Given the description of an element on the screen output the (x, y) to click on. 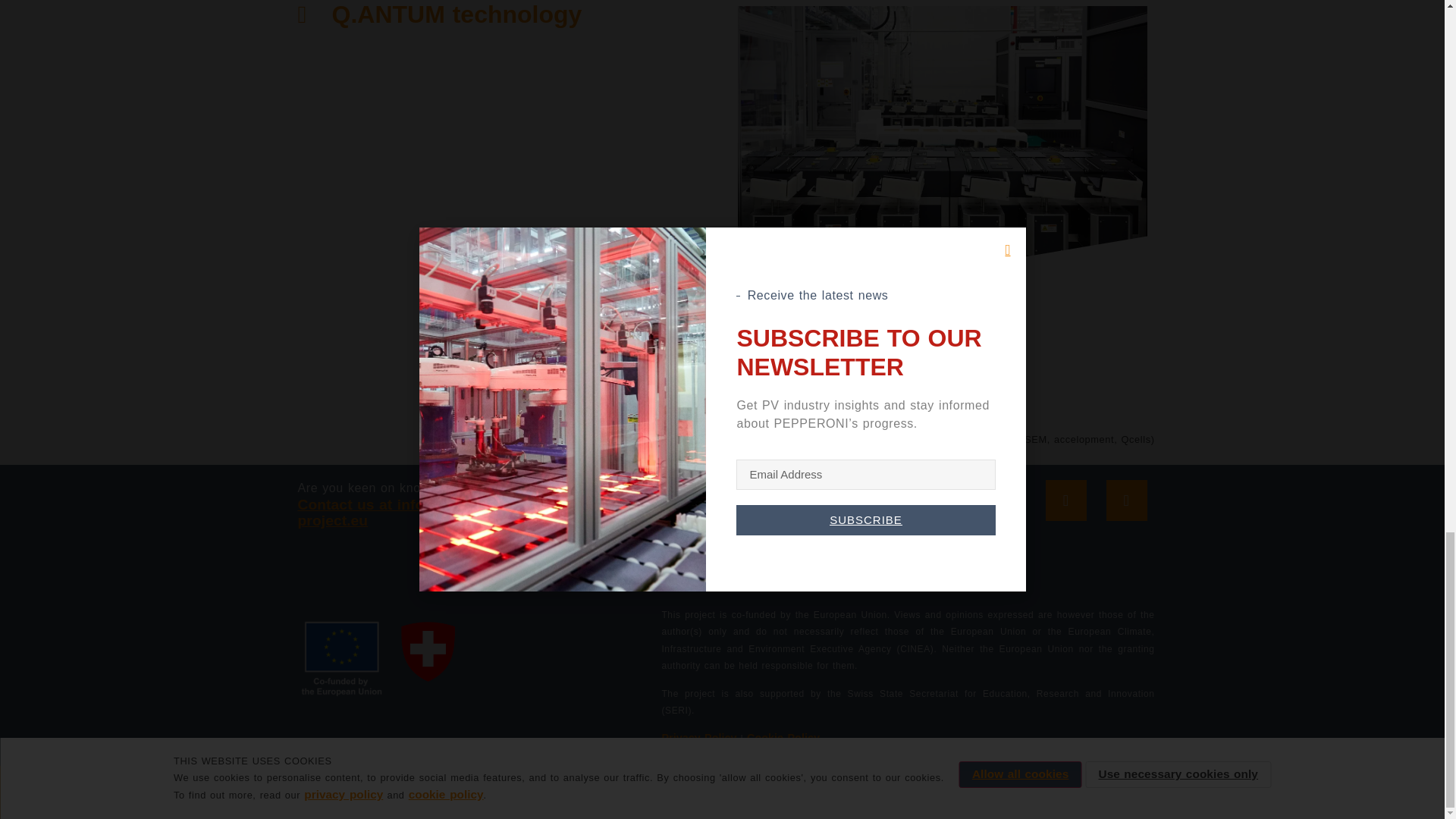
Privacy Policy (698, 737)
Cookie Policy (782, 737)
